Given the description of an element on the screen output the (x, y) to click on. 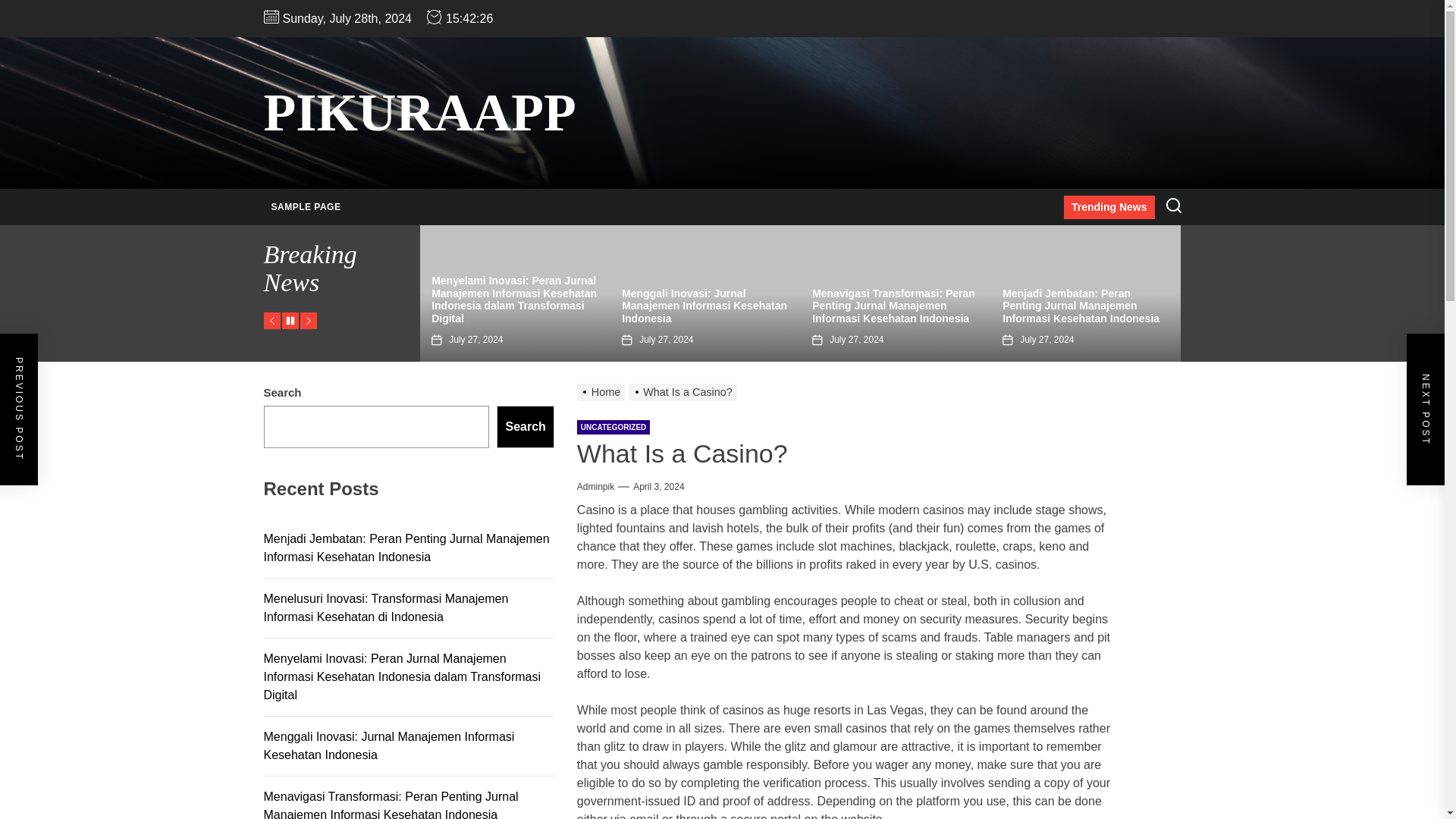
SAMPLE PAGE (306, 207)
PIKURAAPP (419, 112)
Trending News (1109, 207)
